Given the description of an element on the screen output the (x, y) to click on. 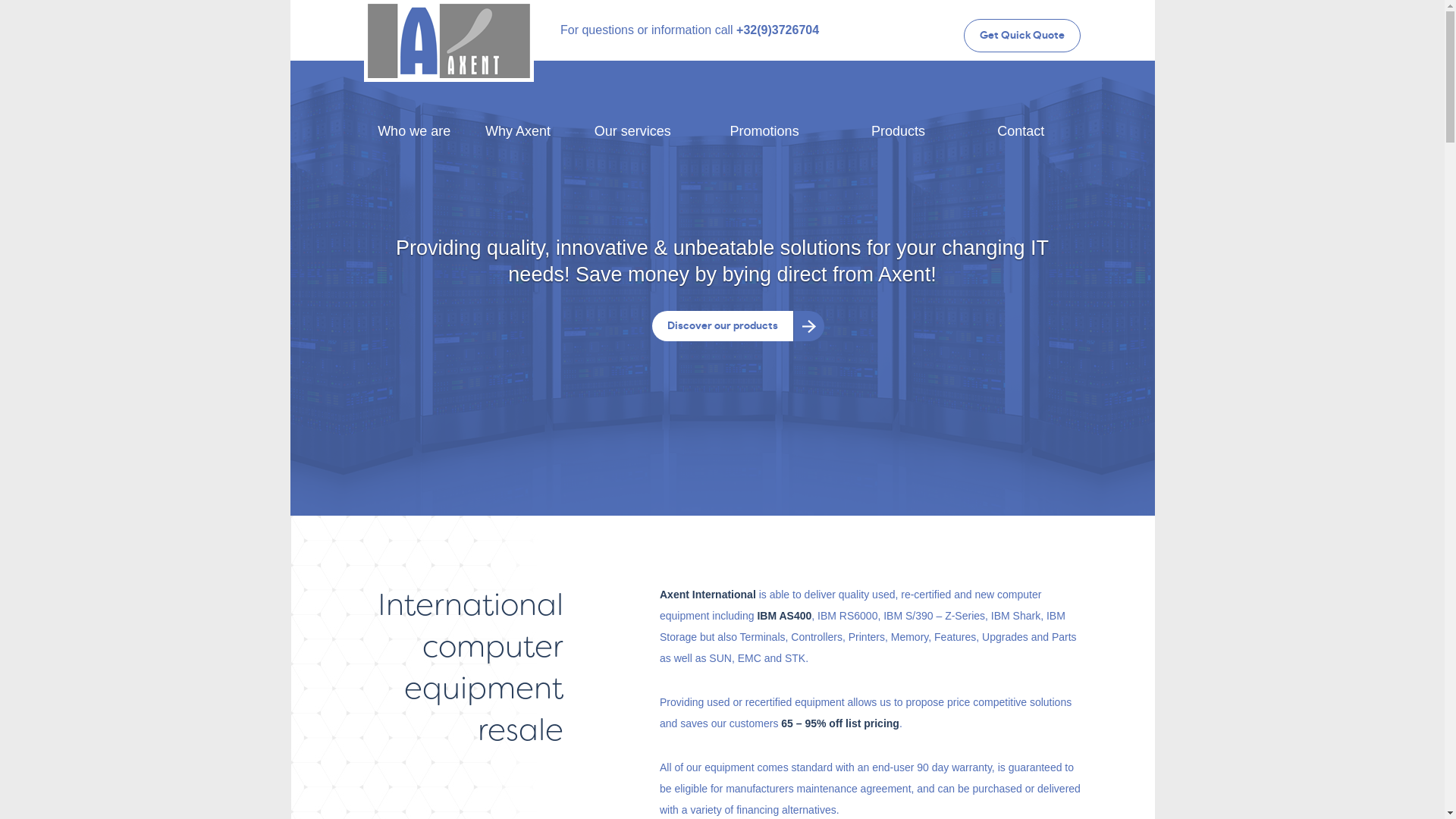
Promotions Element type: text (763, 130)
Why Axent Element type: text (517, 130)
Products Element type: text (897, 130)
Get Quick Quote Element type: text (1021, 35)
Axent International Element type: hover (448, 18)
Our services Element type: text (632, 130)
Contact Element type: text (1020, 130)
Axent International Element type: hover (448, 40)
+32(9)3726704 Element type: text (777, 29)
Who we are Element type: text (414, 130)
Discover our products
   Element type: text (722, 325)
